Given the description of an element on the screen output the (x, y) to click on. 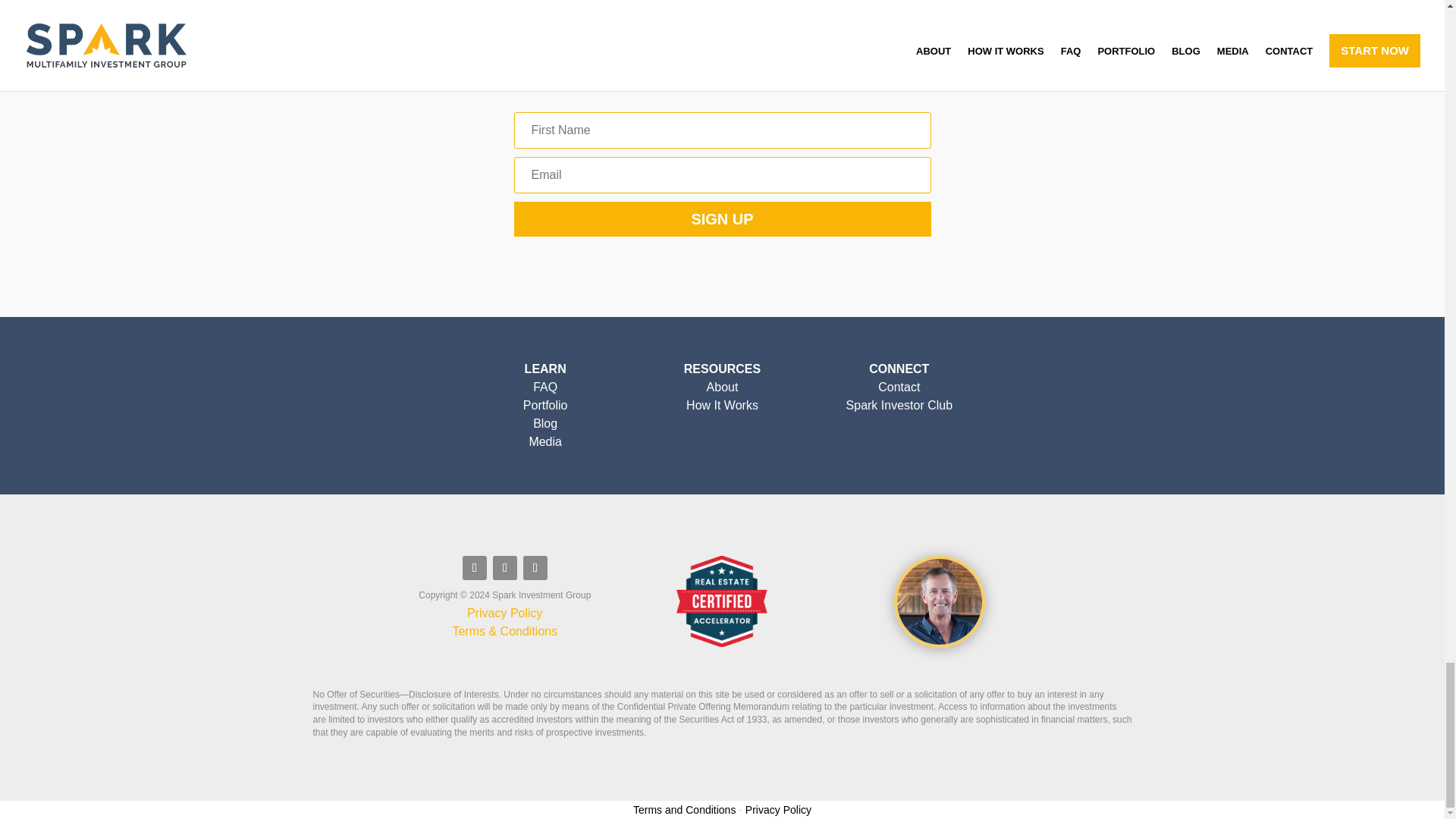
Blog (544, 422)
Real-Estate-Accelerator-Certified-300x300 (722, 601)
Follow on LinkedIn (534, 567)
Portfolio (544, 404)
Follow on Facebook (474, 567)
Follow on Youtube (504, 567)
FAQ (544, 386)
SIGN UP (722, 218)
